Given the description of an element on the screen output the (x, y) to click on. 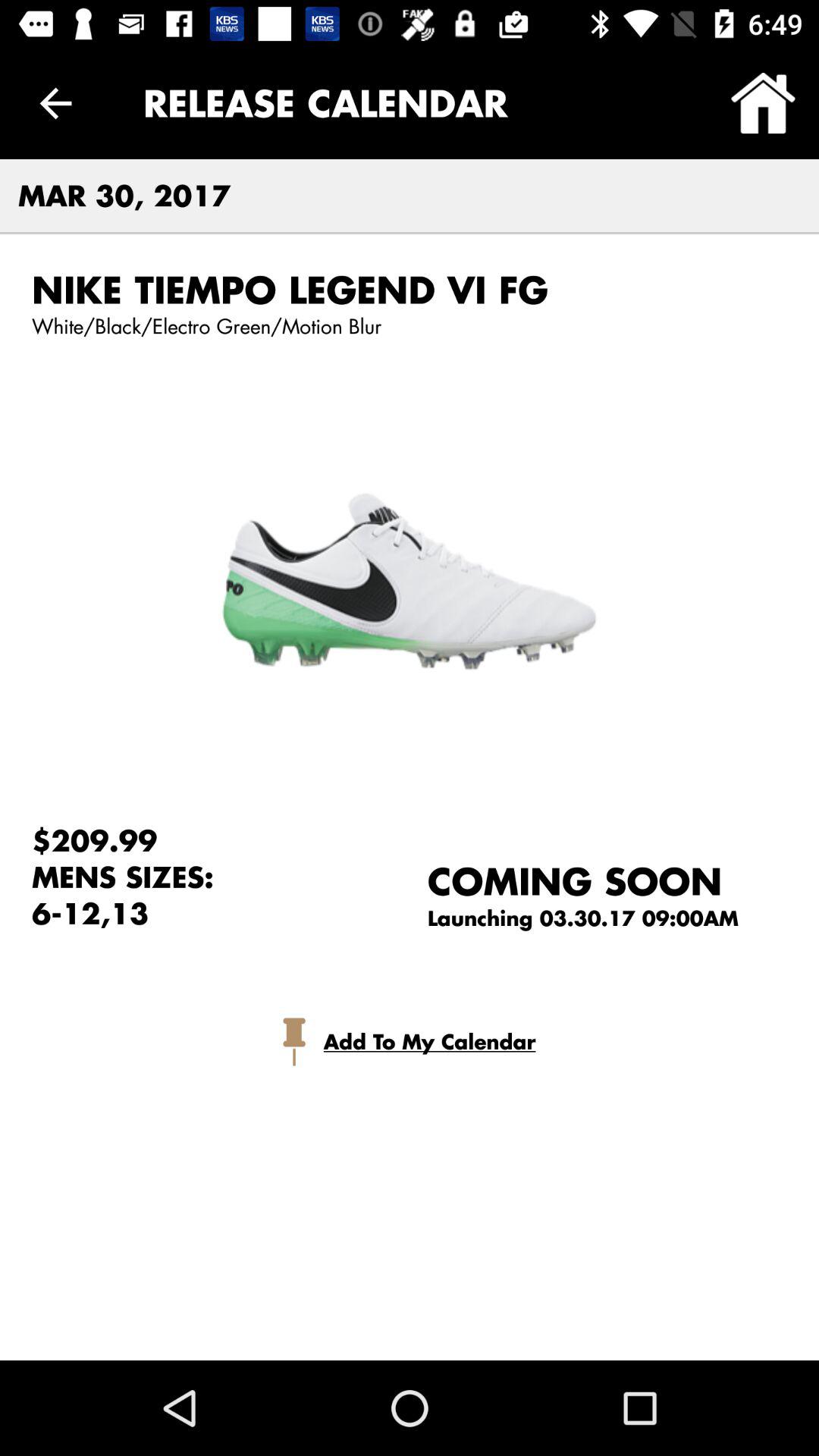
launch the item above the mar 30, 2017 item (55, 103)
